Given the description of an element on the screen output the (x, y) to click on. 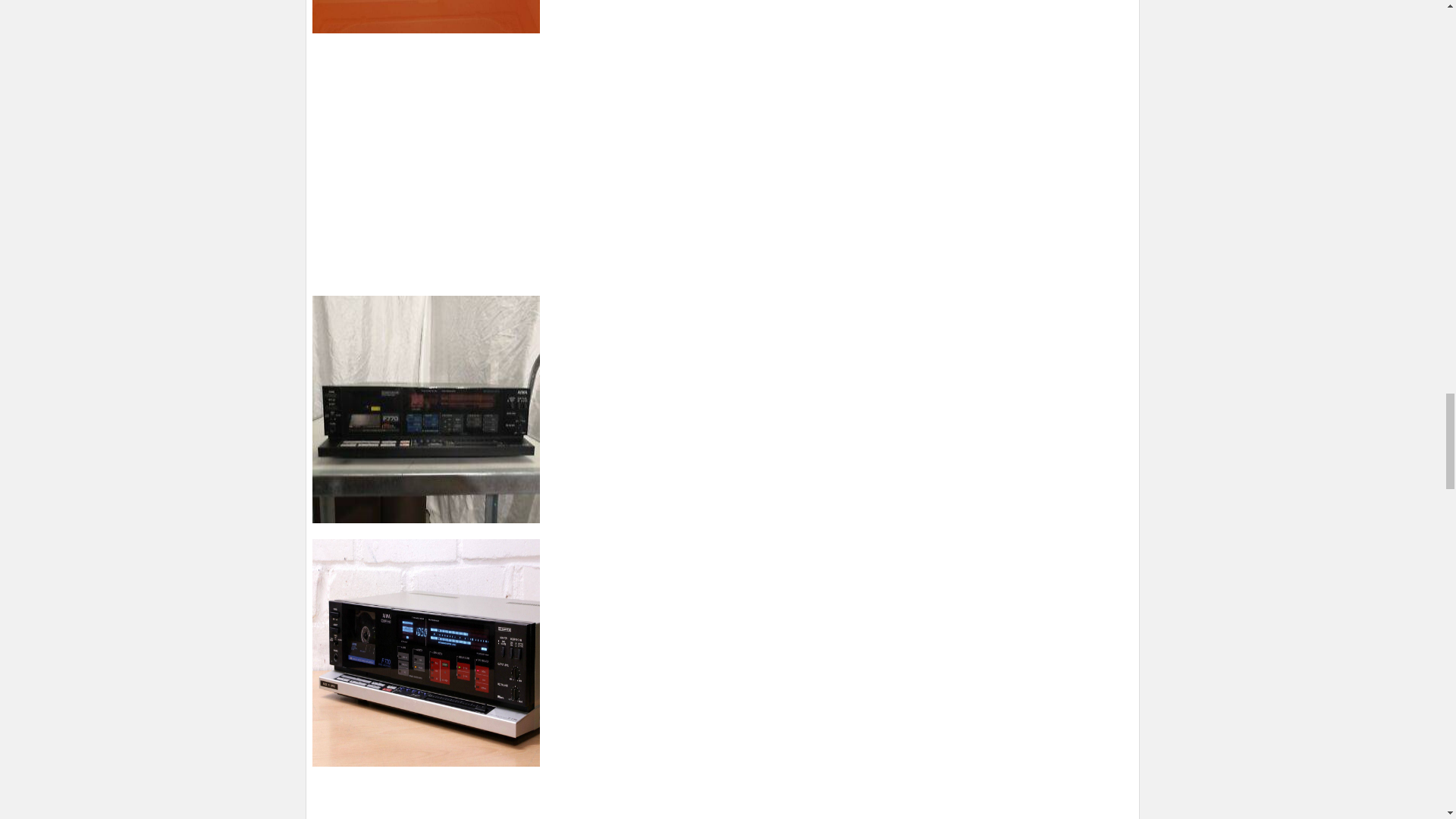
Aiwa AD-F770 (426, 16)
Aiwa AD-F770 (426, 409)
Aiwa AD-F770 (426, 652)
